Given the description of an element on the screen output the (x, y) to click on. 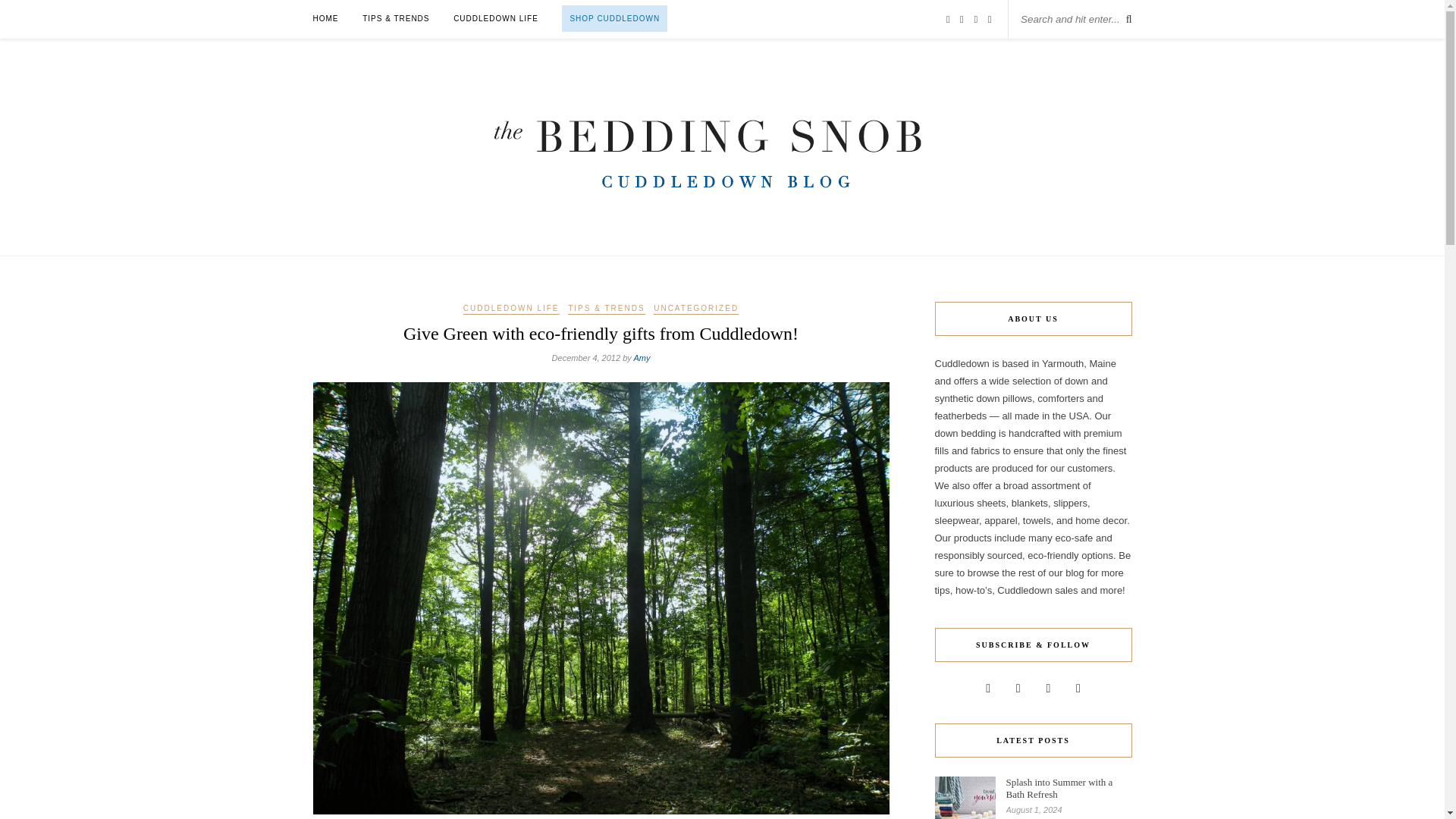
HOME (325, 18)
View all posts in Cuddledown Life (511, 308)
UNCATEGORIZED (695, 308)
CUDDLEDOWN LIFE (511, 308)
CUDDLEDOWN LIFE (495, 18)
View all posts in Uncategorized (695, 308)
SHOP CUDDLEDOWN (614, 17)
Posts by Amy (641, 357)
Cuddledown Life (495, 18)
Amy (641, 357)
